Given the description of an element on the screen output the (x, y) to click on. 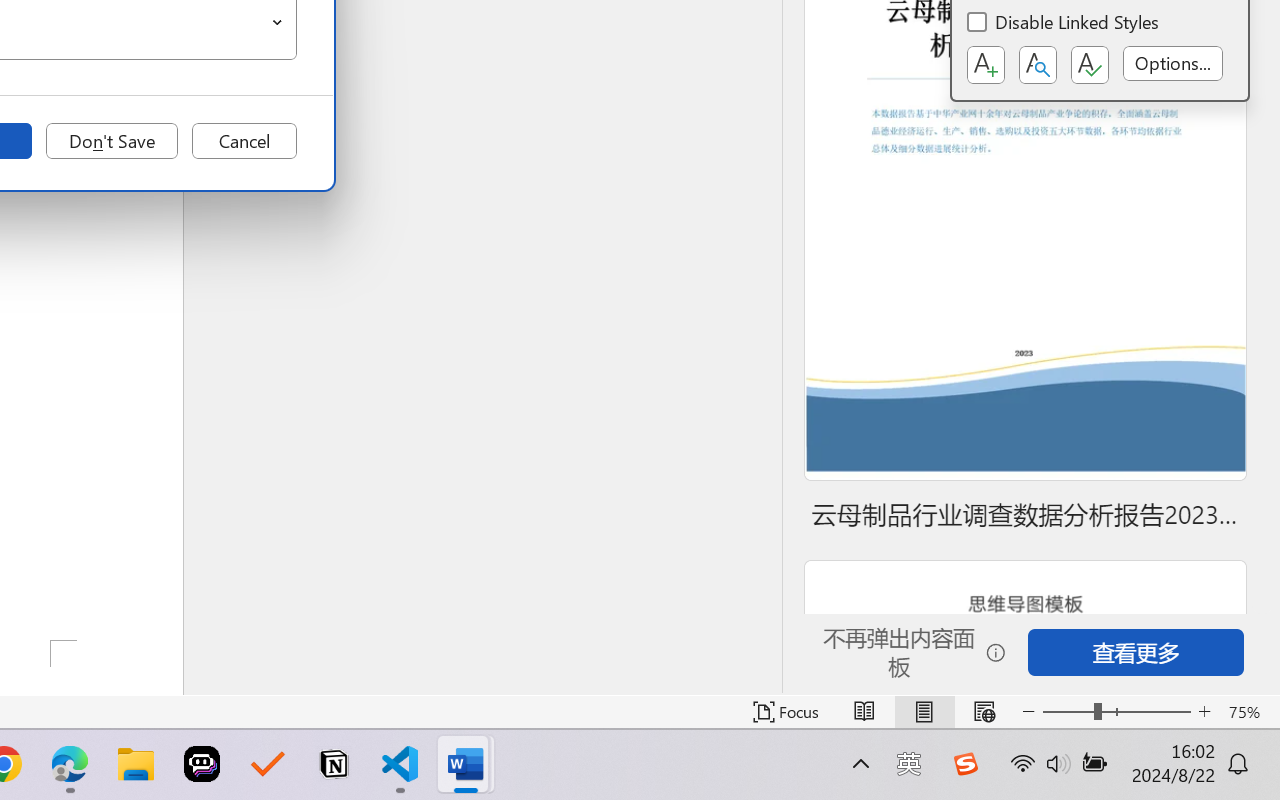
Disable Linked Styles (1064, 24)
Notion (333, 764)
Print Layout (924, 712)
Zoom Out (1067, 712)
Class: Image (965, 764)
Options... (1172, 63)
